Given the description of an element on the screen output the (x, y) to click on. 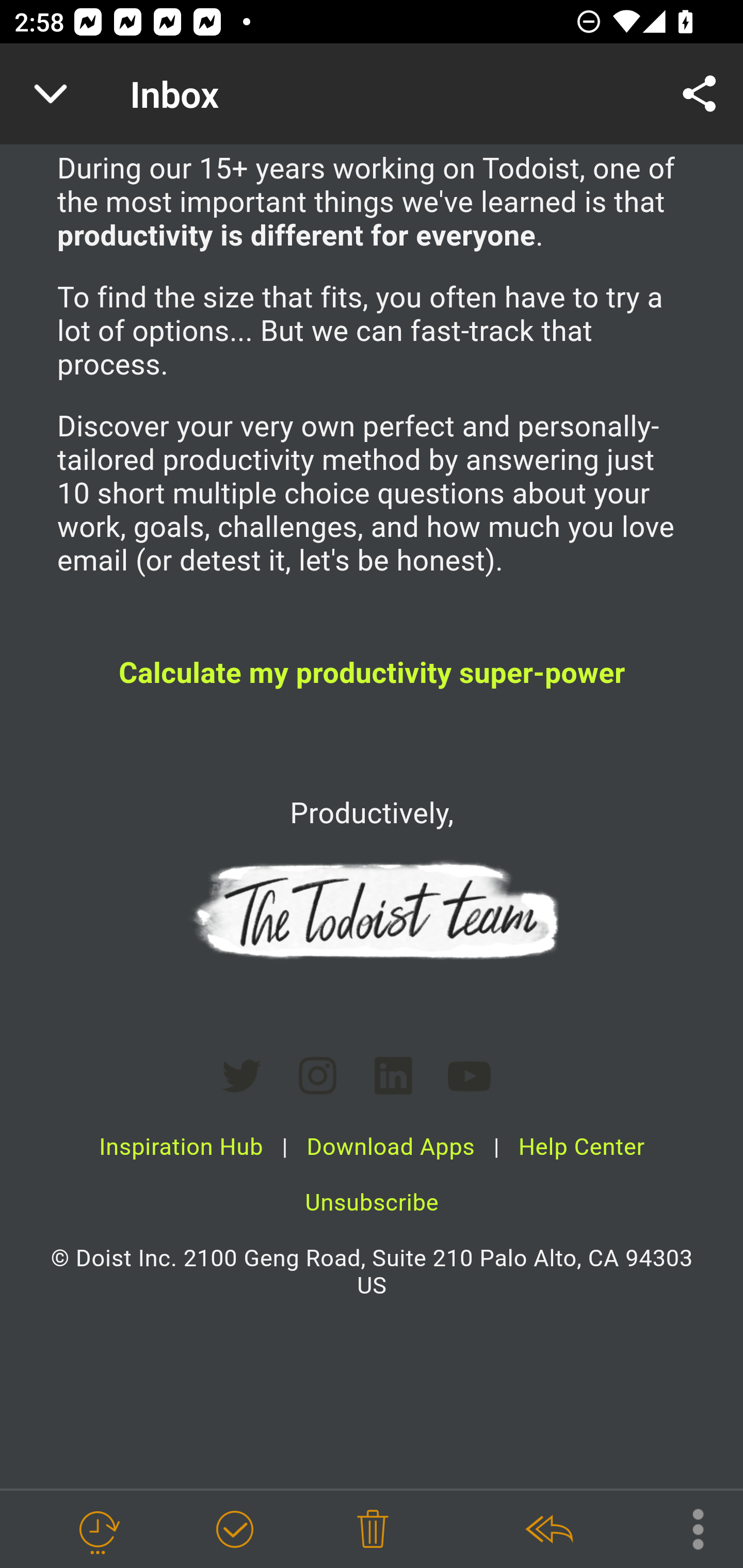
Navigate up (50, 93)
Share (699, 93)
Inspiration Hub (180, 1147)
Download Apps (390, 1147)
Help Center (581, 1147)
Unsubscribe (371, 1204)
More Options (687, 1528)
Snooze (97, 1529)
Mark as Done (234, 1529)
Delete (372, 1529)
Reply All (548, 1529)
